Given the description of an element on the screen output the (x, y) to click on. 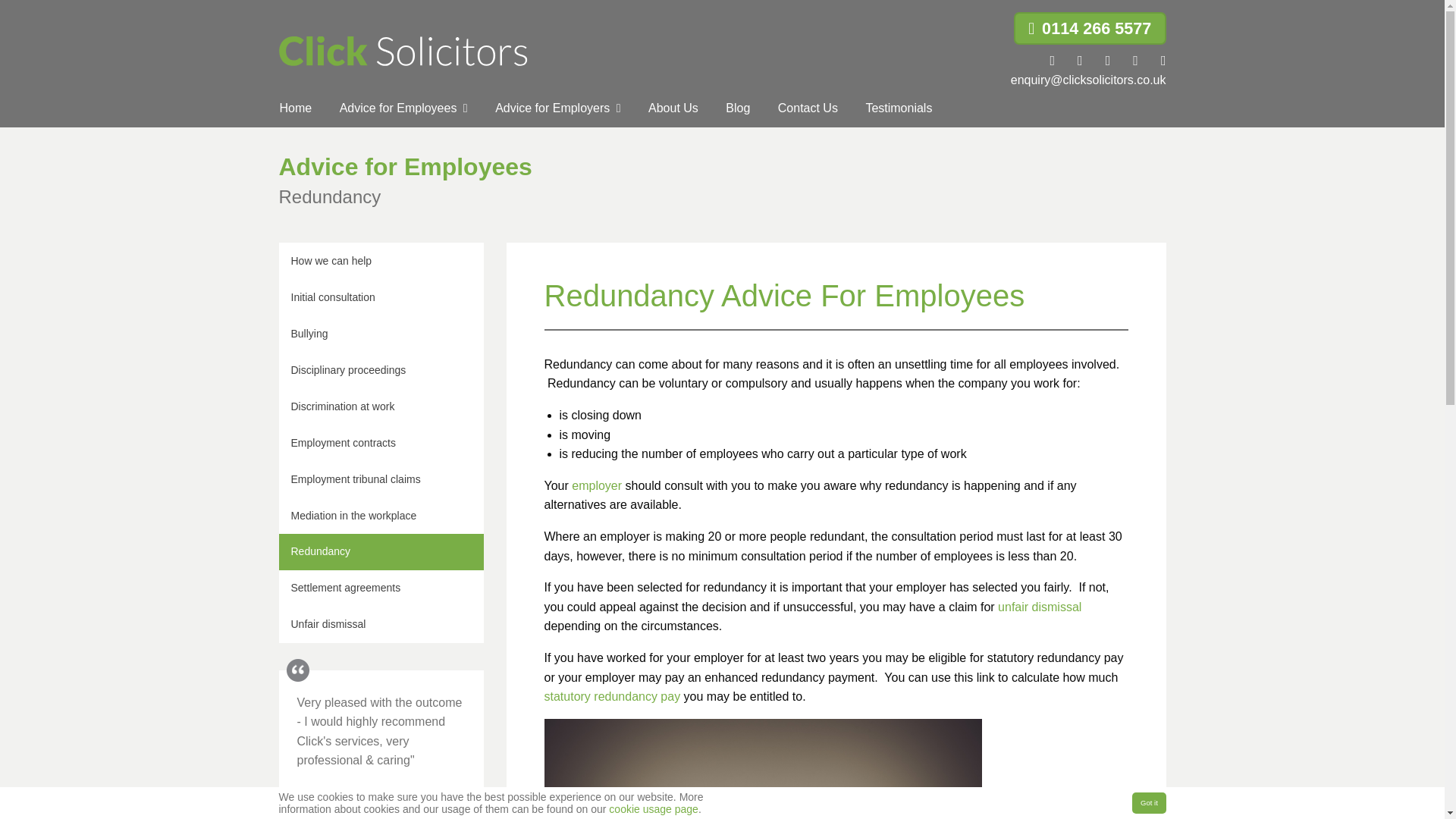
cookie usage page (653, 808)
Blog (737, 108)
Got it (1149, 803)
employer (596, 485)
Home (294, 108)
Contact Us (807, 108)
Advice for Employees (403, 108)
Advice for Employers (557, 108)
Testimonials (898, 108)
About Us (673, 108)
